Given the description of an element on the screen output the (x, y) to click on. 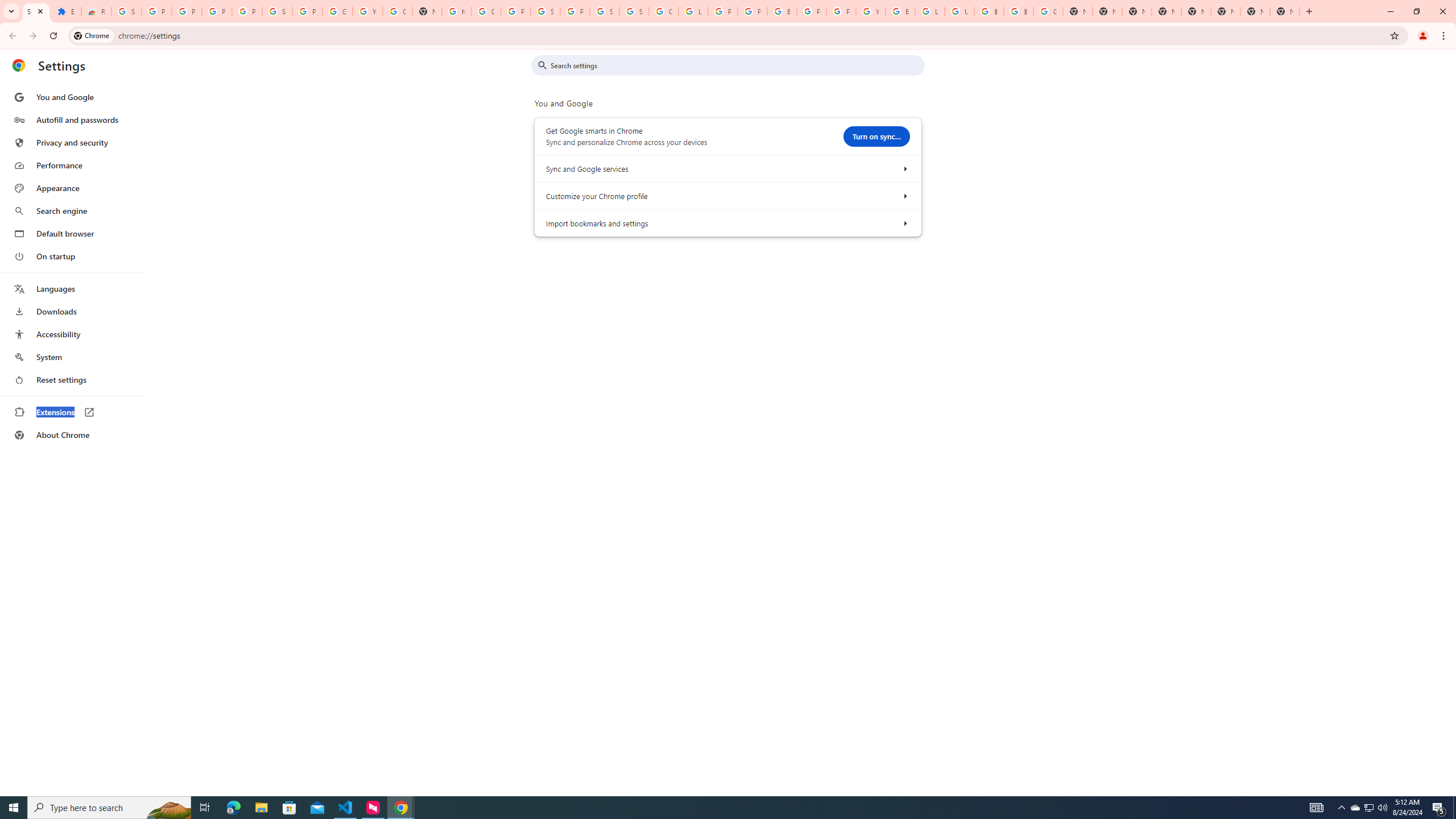
Google Account (337, 11)
Extensions (70, 412)
Reviews: Helix Fruit Jump Arcade Game (95, 11)
Sync and Google services (904, 167)
About Chrome (70, 434)
Customize your Chrome profile (904, 195)
Default browser (70, 233)
Autofill and passwords (70, 119)
